Given the description of an element on the screen output the (x, y) to click on. 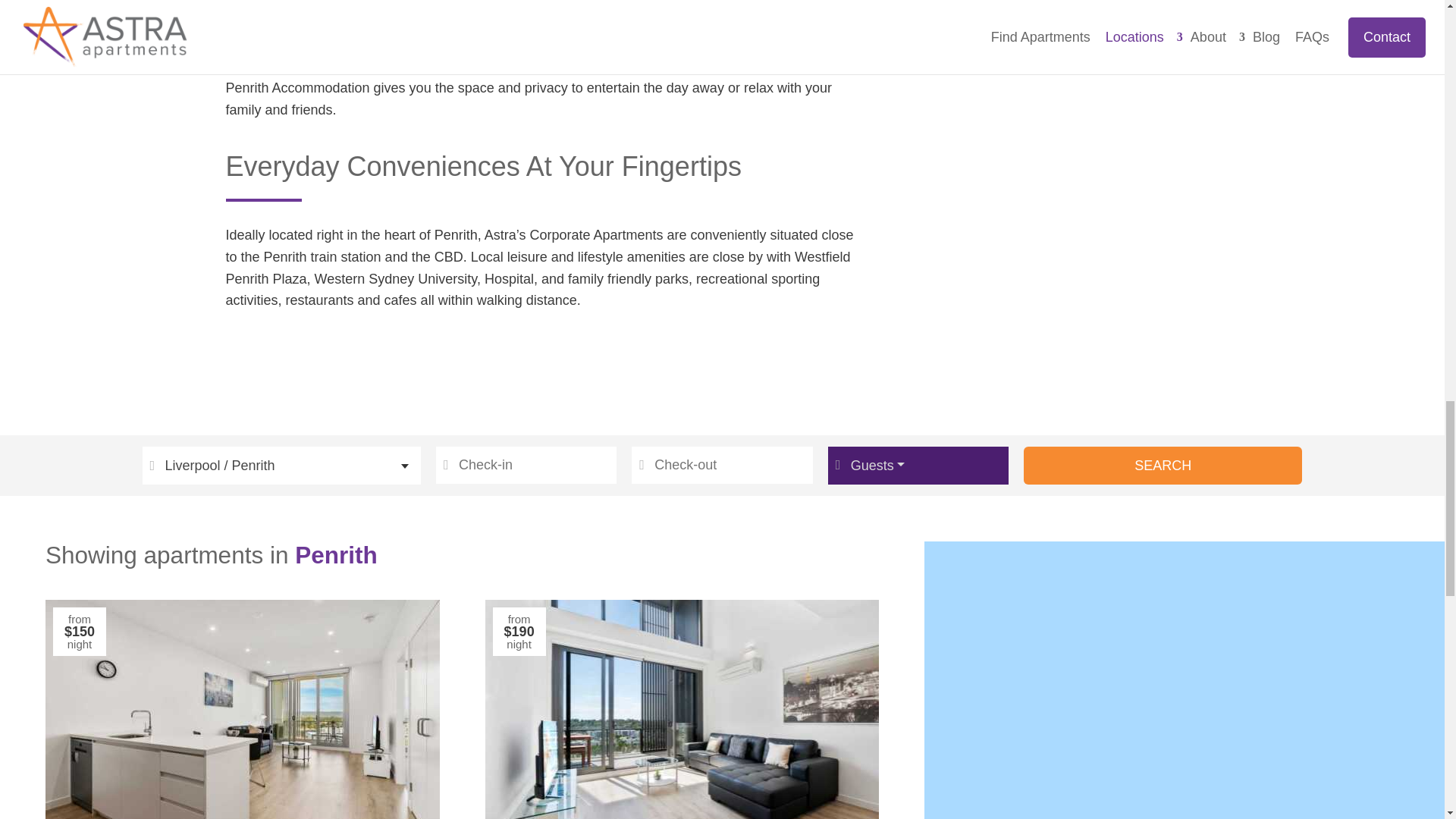
Search (1163, 465)
